Given the description of an element on the screen output the (x, y) to click on. 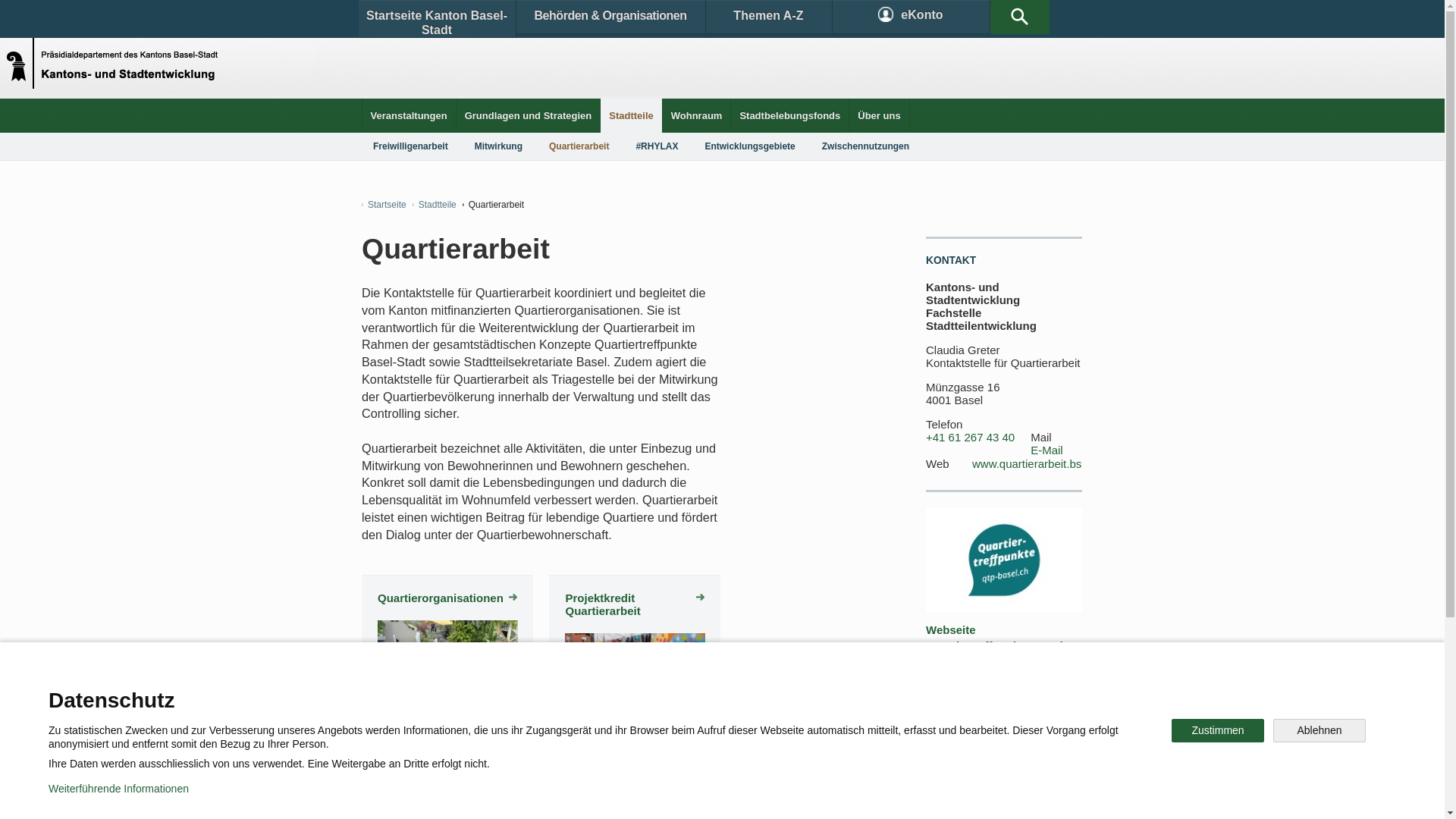
Impressum Element type: text (648, 796)
Statistiken Element type: text (687, 693)
Wohnraum Element type: text (696, 115)
+41 61 267 43 40 Element type: text (969, 437)
Bild & Multimedia Element type: text (908, 693)
Entwicklungsgebiete Element type: text (749, 145)
www.quartierarbeit.bs.ch Element type: text (1034, 463)
Projektkredit Quartierarbeit Element type: text (634, 604)
Stadtplan & Karte Element type: text (504, 693)
Grundlagen und Strategien Element type: text (528, 115)
Startseite Kanton Basel-Stadt Element type: text (435, 18)
#RHYLAX Element type: text (656, 145)
Quartierorganisationen Element type: text (447, 597)
Instagram Element type: text (738, 746)
Stadtbelebungsfonds Element type: text (789, 115)
Facebook Element type: text (547, 746)
E-Mail Element type: text (1046, 450)
Mitwirkung Element type: text (498, 145)
Ablehnen Element type: text (1319, 730)
Kontakt Element type: text (406, 693)
Startseite Element type: text (383, 204)
Zur mobilen Ansicht Element type: text (752, 796)
Gesetze Element type: text (597, 693)
Themen A-Z Element type: text (768, 17)
Stadtteile Element type: text (631, 115)
Zwischennutzungen Element type: text (865, 145)
eKonto Element type: text (910, 17)
Freiwilligenarbeit Element type: text (410, 145)
Publikationen Element type: text (795, 693)
Nutzungsregelungen Element type: text (542, 796)
Veranstaltungen Element type: text (408, 115)
Stadtteile Element type: text (434, 204)
Webseite Quartiertreffpunkte Basel Element type: text (994, 637)
Zustimmen Element type: text (1217, 730)
Twitter Element type: text (642, 746)
